Given the description of an element on the screen output the (x, y) to click on. 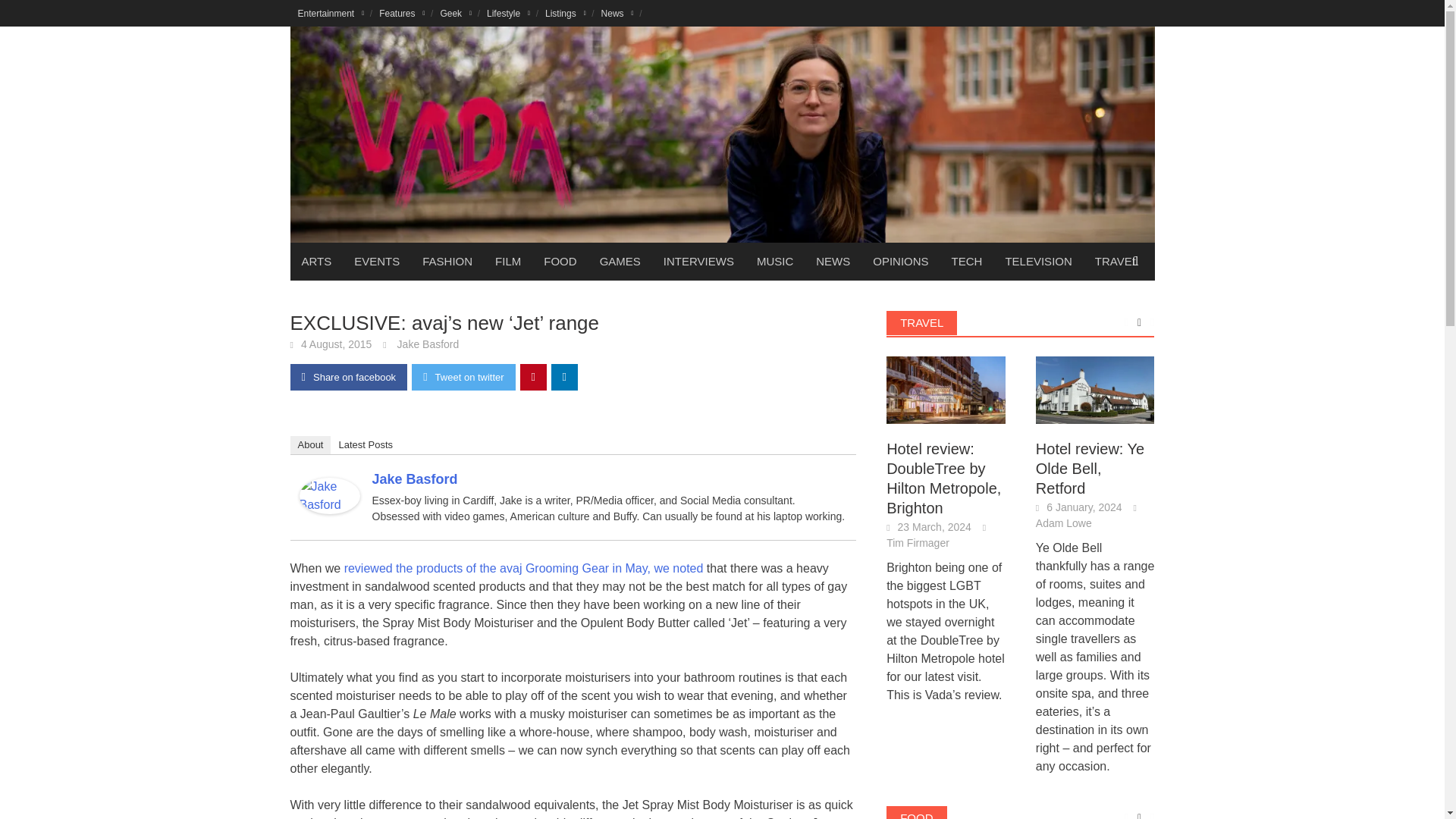
Hotel review: Ye Olde Bell, Retford (1094, 390)
Listings (565, 13)
Lifestyle (508, 13)
Jake Basford (328, 494)
Hotel review: DoubleTree by Hilton Metropole, Brighton (946, 389)
Geek (455, 13)
Entertainment (330, 13)
Hotel review: DoubleTree by Hilton Metropole, Brighton (946, 390)
News (618, 13)
Hotel review: Ye Olde Bell, Retford (1094, 389)
